Given the description of an element on the screen output the (x, y) to click on. 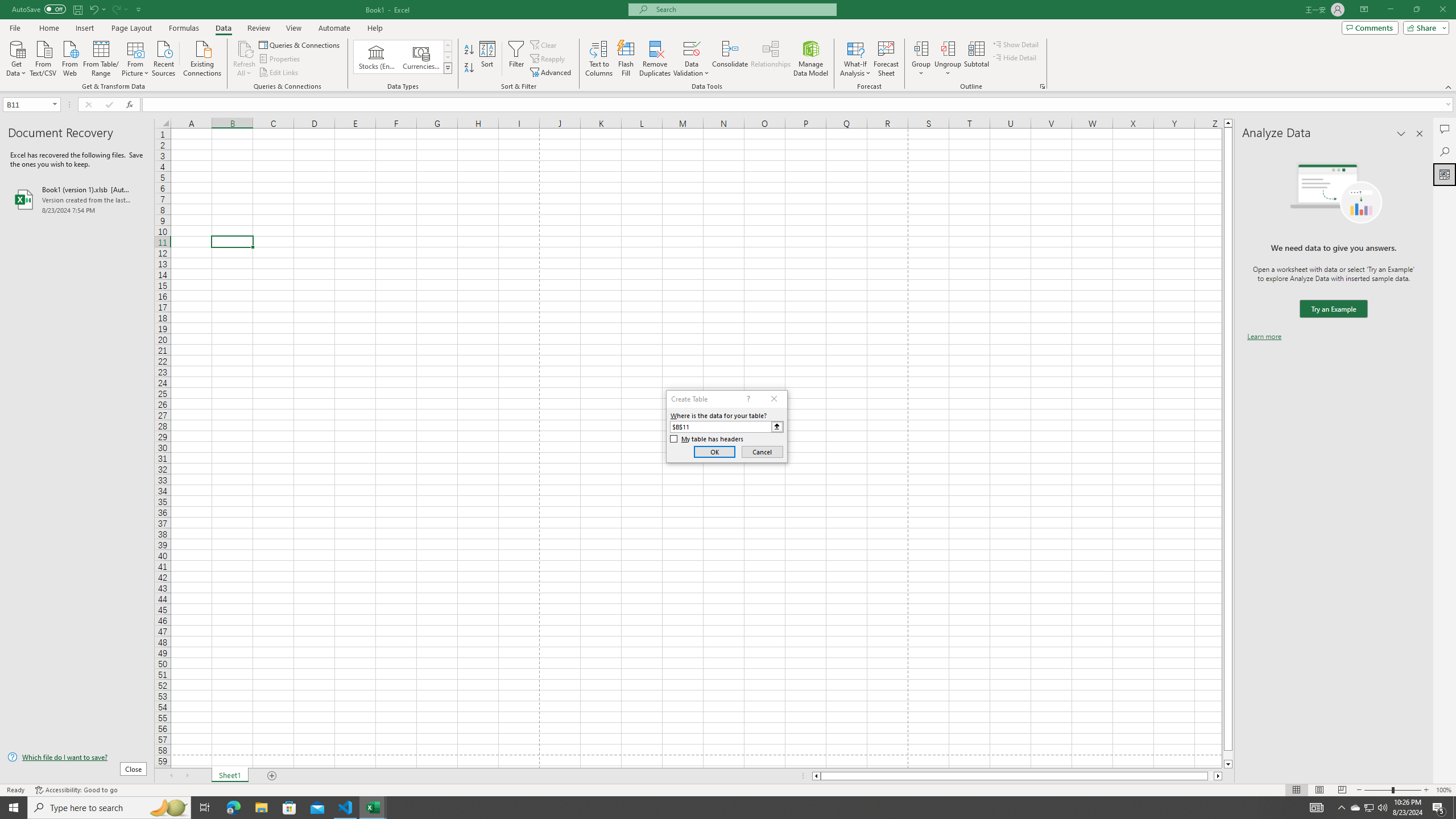
Advanced... (551, 72)
Search (1444, 151)
Currencies (English) (420, 56)
Remove Duplicates (654, 58)
We need data to give you answers. Try an Example (1333, 308)
